Given the description of an element on the screen output the (x, y) to click on. 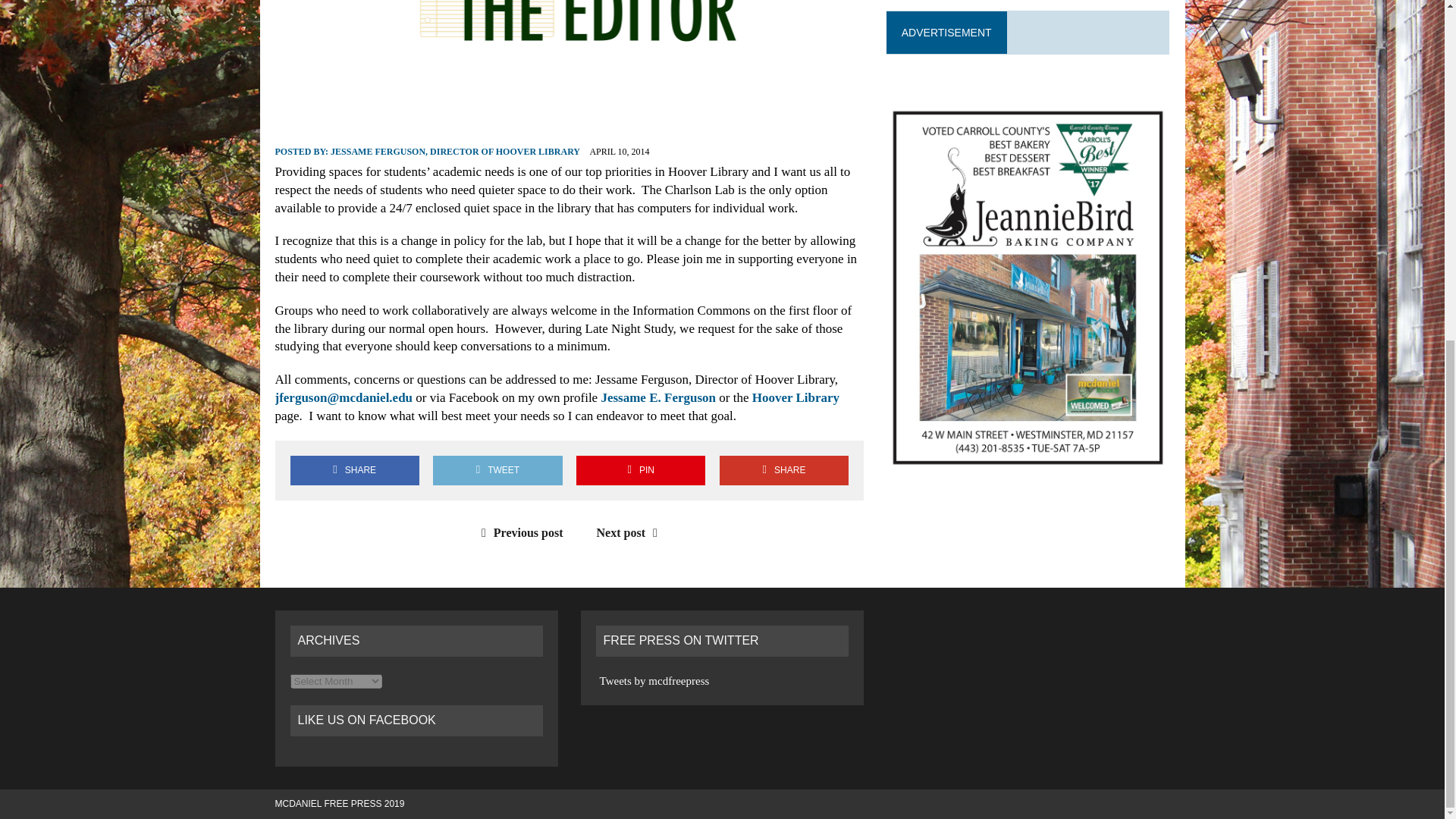
Tweet This Post (497, 470)
Pin This Post (640, 470)
Share on Facebook (354, 470)
